Given the description of an element on the screen output the (x, y) to click on. 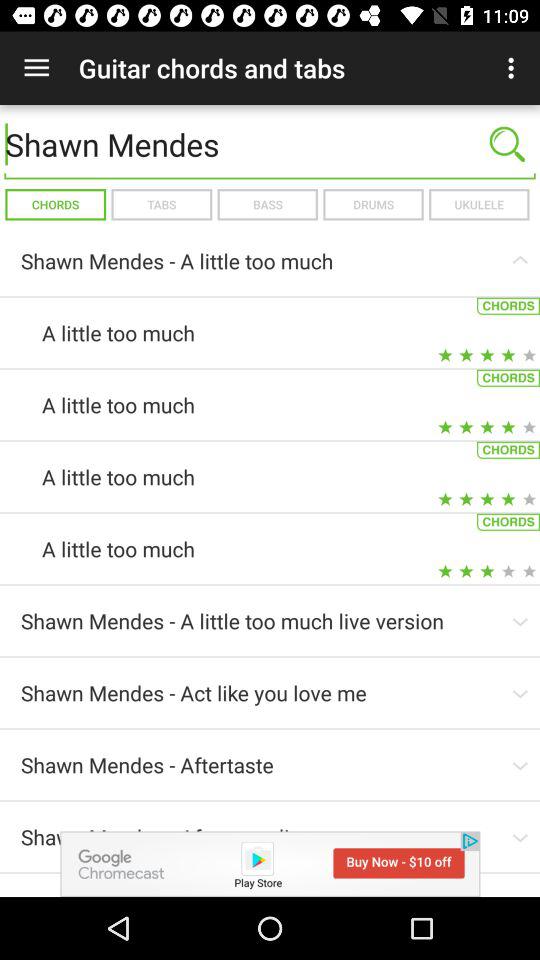
select the drums item (373, 204)
